Given the description of an element on the screen output the (x, y) to click on. 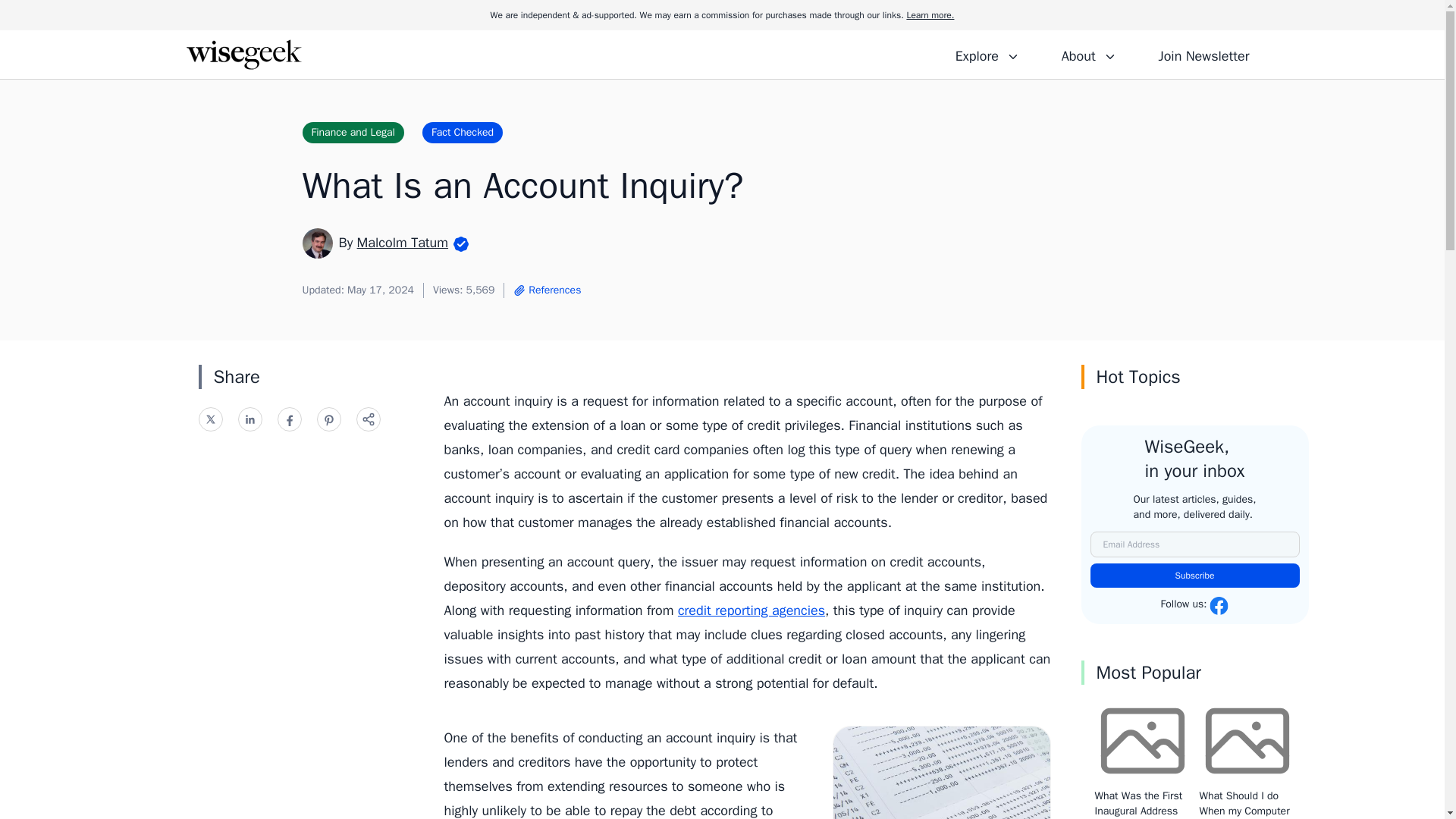
Join Newsletter (1202, 54)
Explore (986, 54)
Fact Checked (462, 132)
About (1088, 54)
credit reporting agencies (751, 610)
Learn more. (929, 15)
Finance and Legal (352, 132)
Malcolm Tatum (402, 242)
References (546, 290)
